Given the description of an element on the screen output the (x, y) to click on. 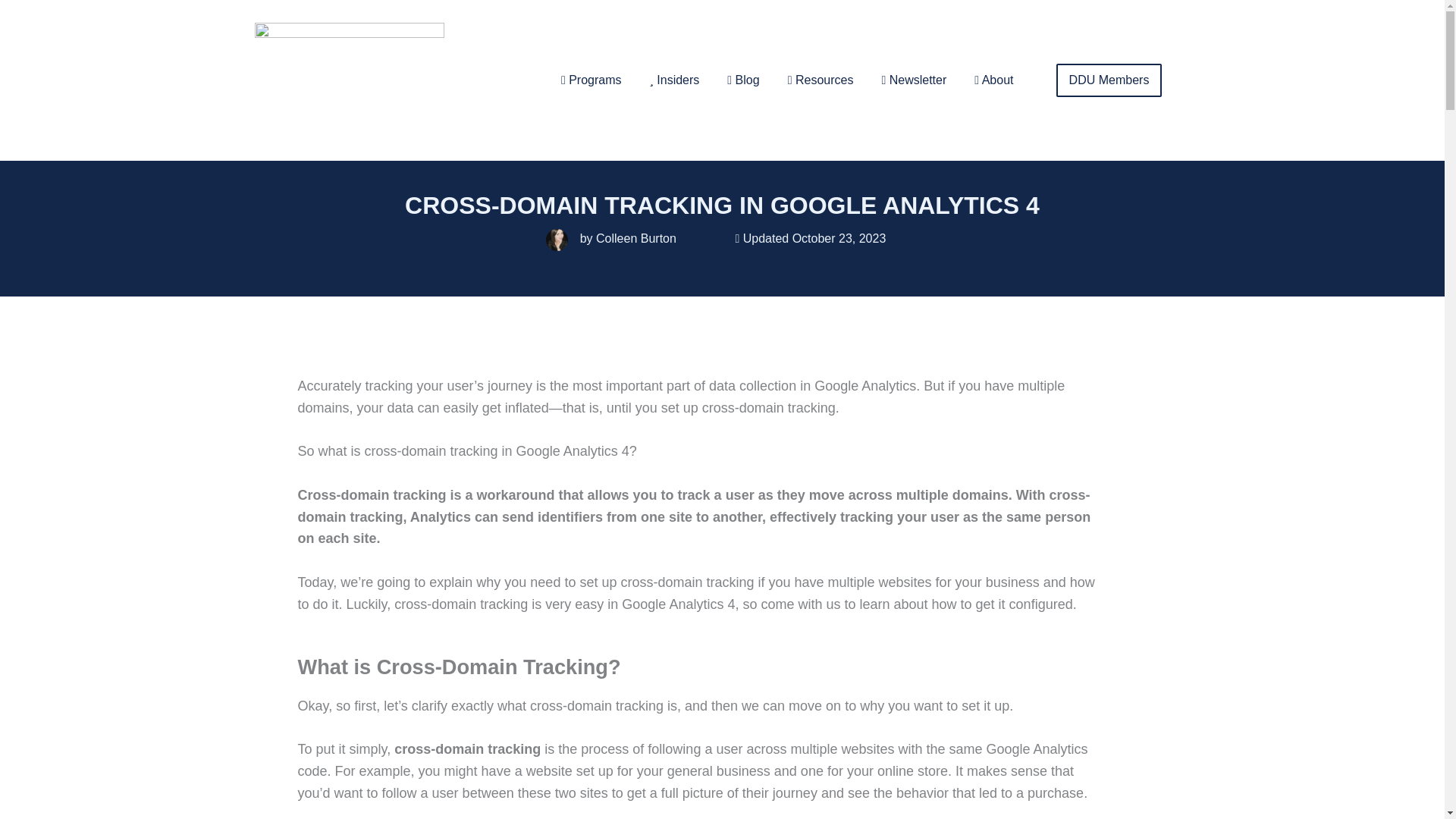
About (993, 80)
Newsletter (913, 80)
Resources (821, 80)
DDU Members (1109, 80)
Blog (742, 80)
Insiders (674, 80)
Programs (590, 80)
